Given the description of an element on the screen output the (x, y) to click on. 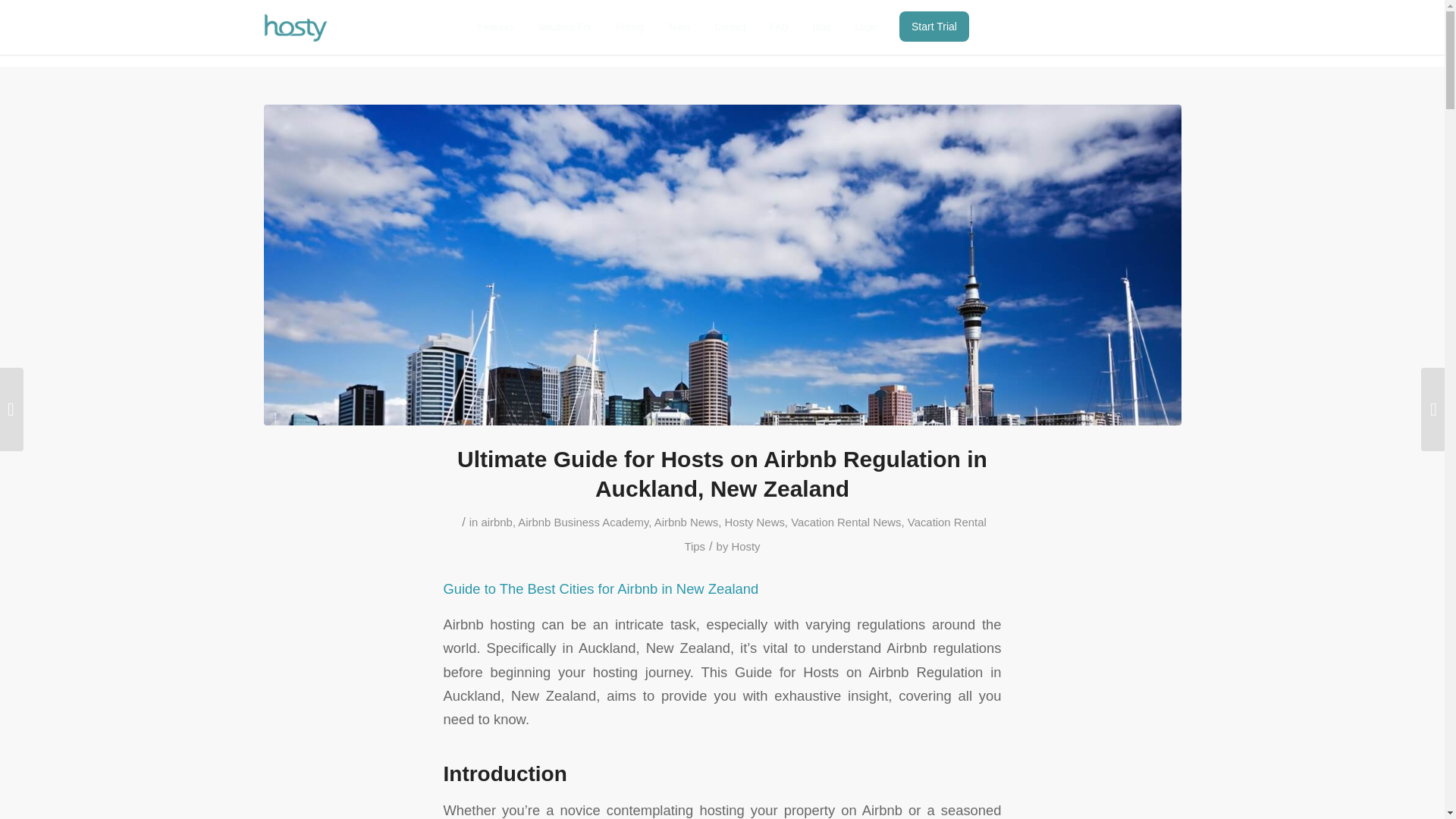
Contact (729, 27)
Airbnb Business Academy (582, 522)
Vacation Rental News (845, 522)
Features (495, 27)
Vacation Rental Tips (834, 534)
Guide to The Best Cities for Airbnb in New Zealand (600, 588)
Pricing (630, 27)
HostyAquaSmall (295, 27)
Start Trial (933, 27)
